Given the description of an element on the screen output the (x, y) to click on. 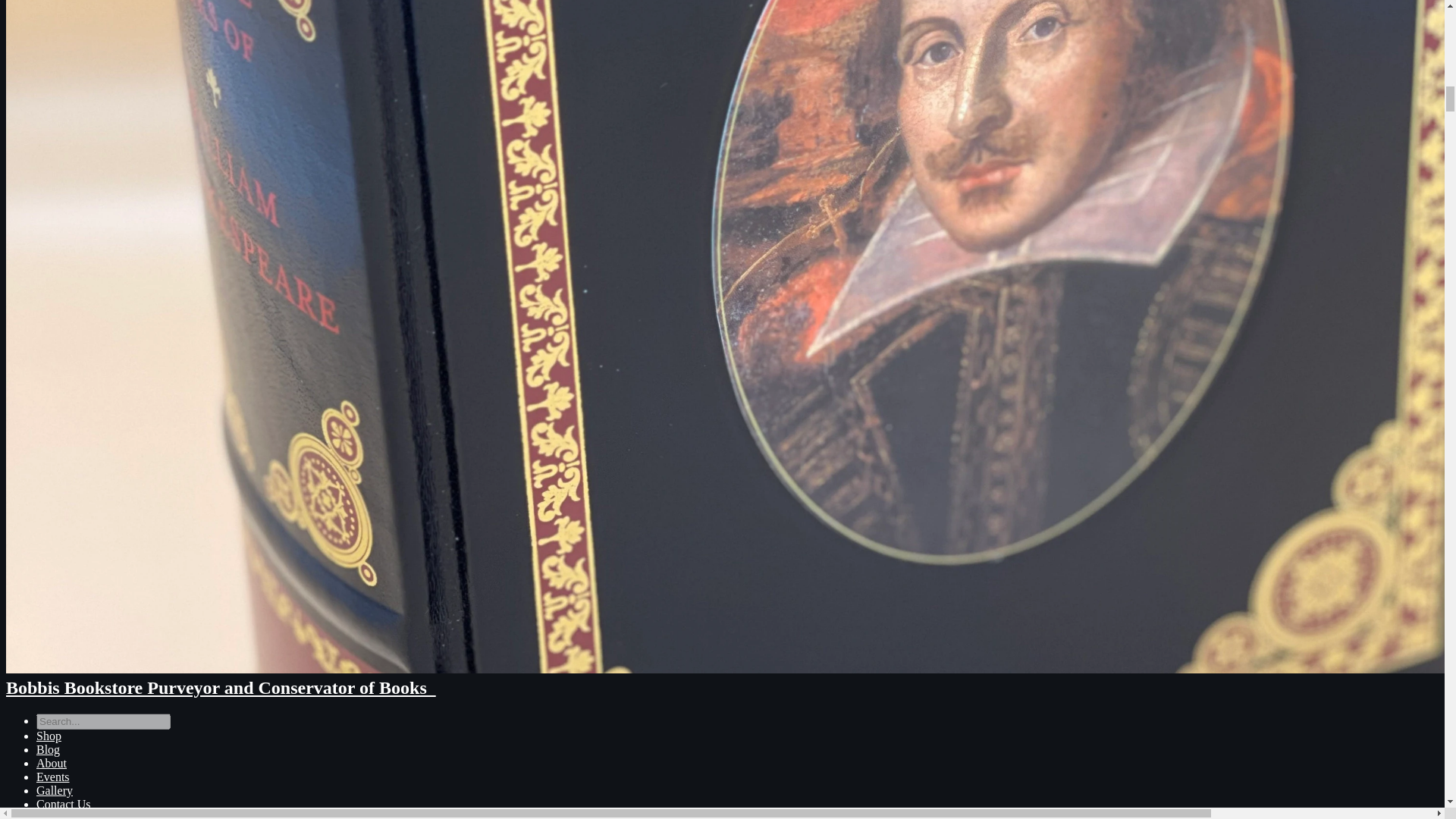
Events (52, 776)
Shop (48, 735)
Gallery (54, 789)
Blog (47, 748)
About (51, 762)
Contact Us (63, 803)
